Given the description of an element on the screen output the (x, y) to click on. 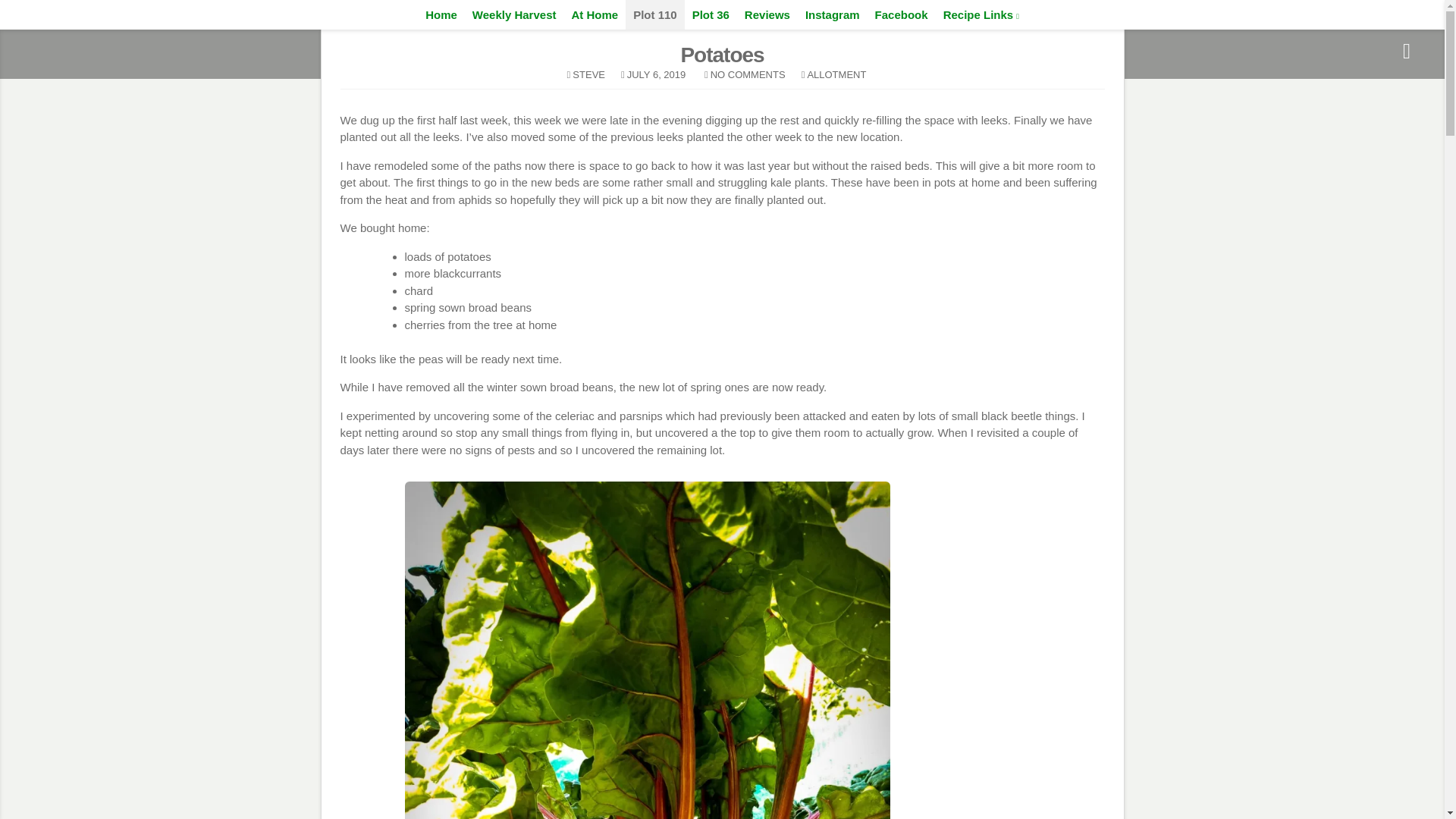
Plot 36 (710, 14)
Facebook (901, 14)
Allotment Potatoes Sunflowers (722, 25)
JULY 6, 2019 (656, 74)
STEVE (588, 74)
At Home (594, 14)
Plot 110 (655, 14)
Instagram (832, 14)
ALLOTMENT (836, 74)
NO COMMENTS (748, 74)
Reviews (766, 14)
Recipe Links (981, 14)
Weekly Harvest (514, 14)
Home (440, 14)
